Given the description of an element on the screen output the (x, y) to click on. 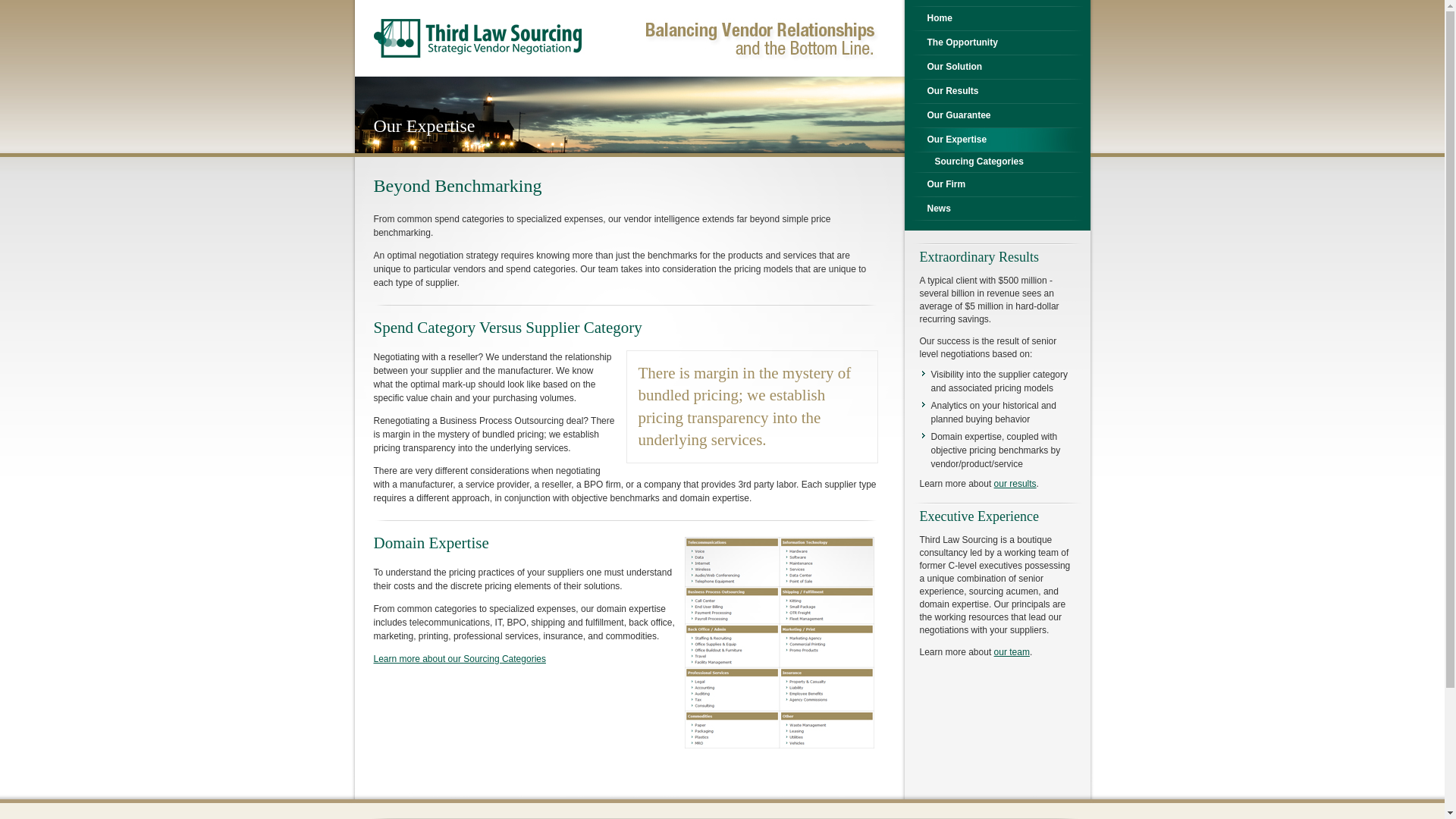
Our Results Element type: text (996, 90)
Home Element type: hover (490, 38)
Our Firm Element type: text (996, 184)
The Opportunity Element type: text (996, 42)
Learn more about our Sourcing Categories Element type: text (459, 658)
News Element type: text (996, 208)
Our Solution Element type: text (996, 66)
Our Guarantee Element type: text (996, 115)
Our Expertise Element type: text (996, 139)
our results Element type: text (1015, 483)
our team Element type: text (1011, 651)
Home Element type: text (996, 18)
Sourcing Categories Element type: text (1000, 161)
